Given the description of an element on the screen output the (x, y) to click on. 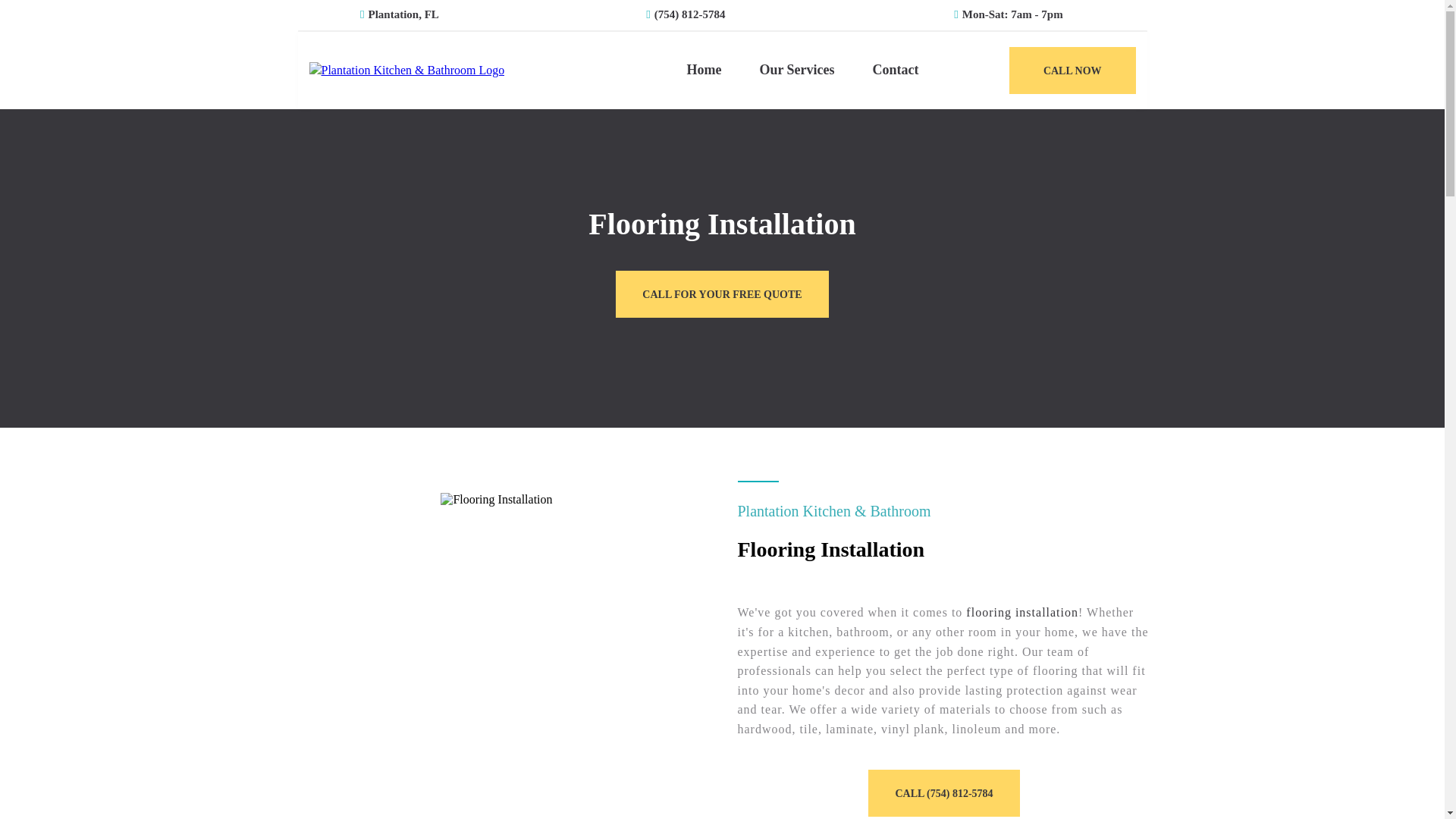
flooring installation (1022, 612)
Contact (895, 69)
Our Services (796, 69)
CALL FOR YOUR FREE QUOTE (721, 293)
Home (702, 69)
CALL NOW (1072, 70)
